Given the description of an element on the screen output the (x, y) to click on. 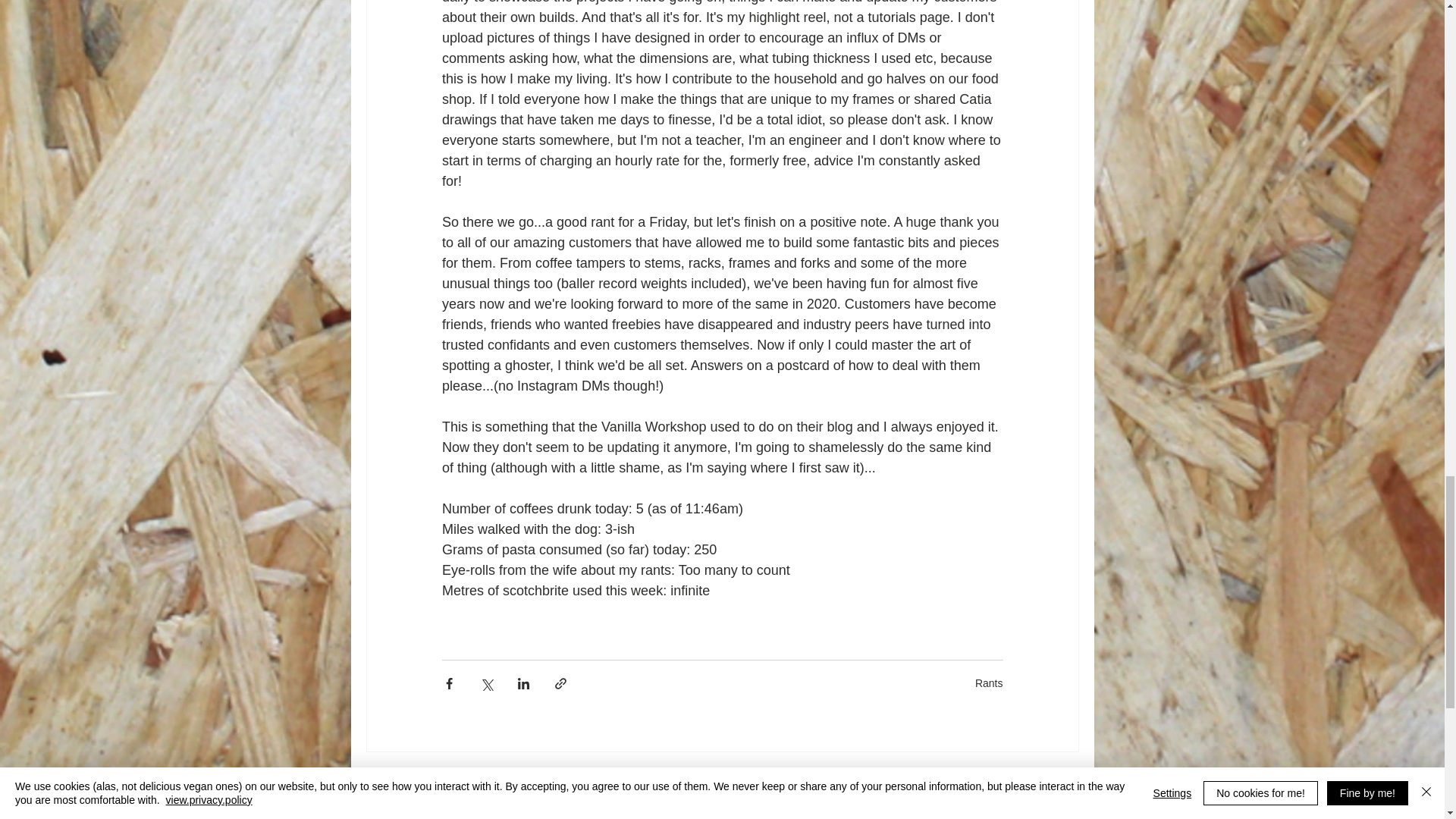
Rants (989, 683)
See All (1061, 780)
